Given the description of an element on the screen output the (x, y) to click on. 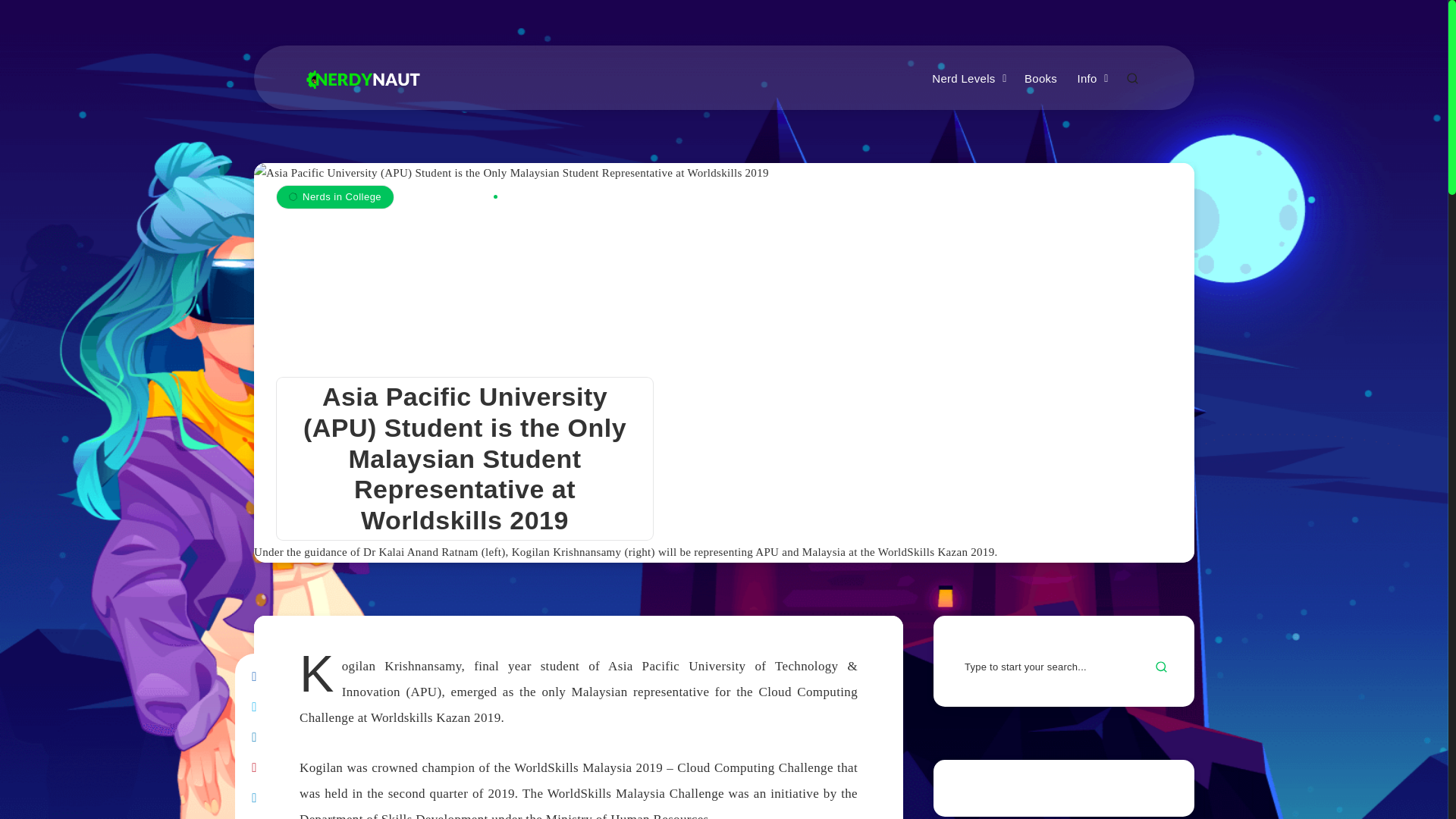
Info (1086, 79)
Nerd Levels (962, 79)
Books (1041, 79)
